Given the description of an element on the screen output the (x, y) to click on. 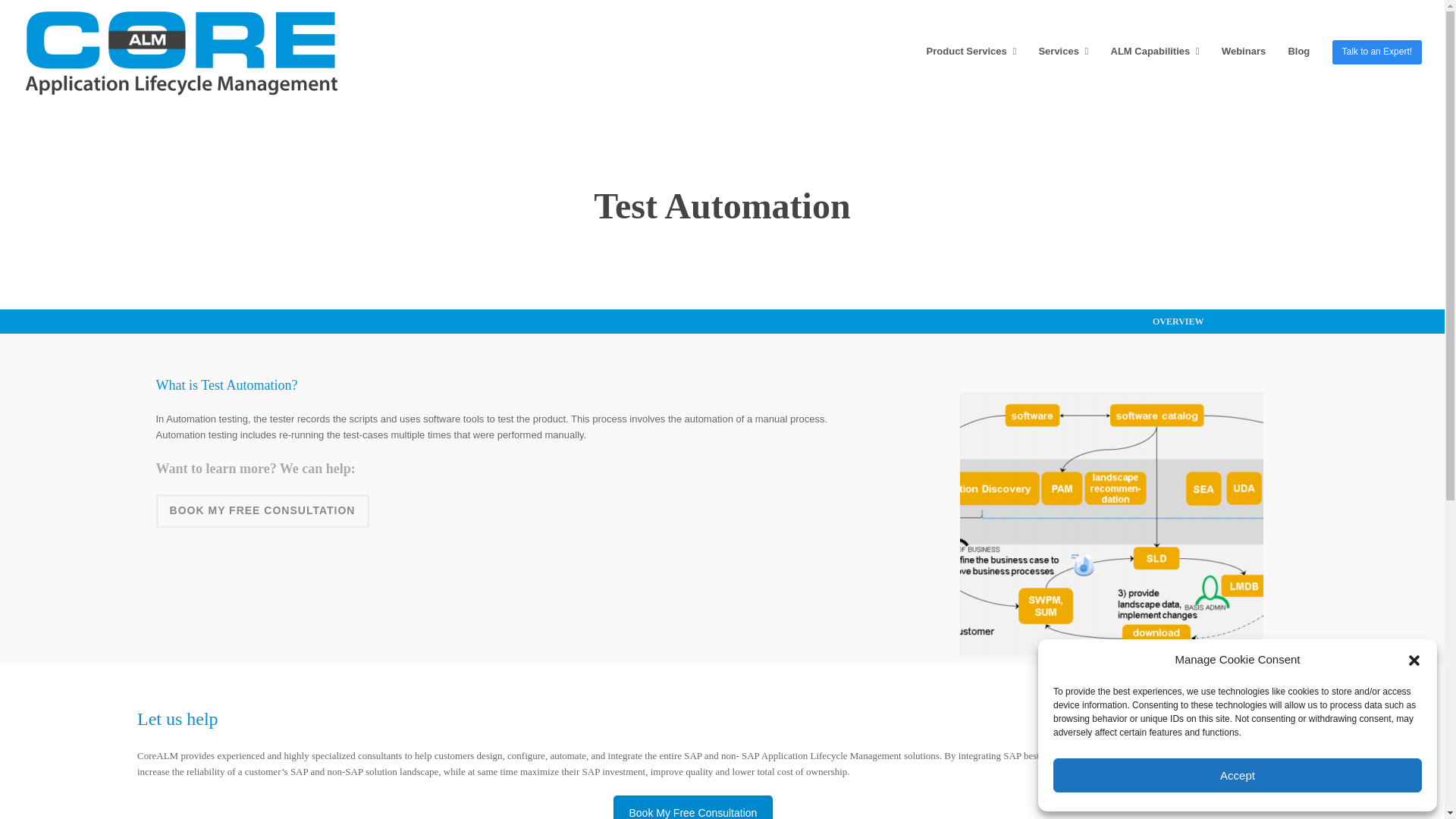
Services (1062, 51)
Free Consultation (262, 510)
Accept (1237, 775)
LM (1111, 523)
Product Services (971, 51)
